Given the description of an element on the screen output the (x, y) to click on. 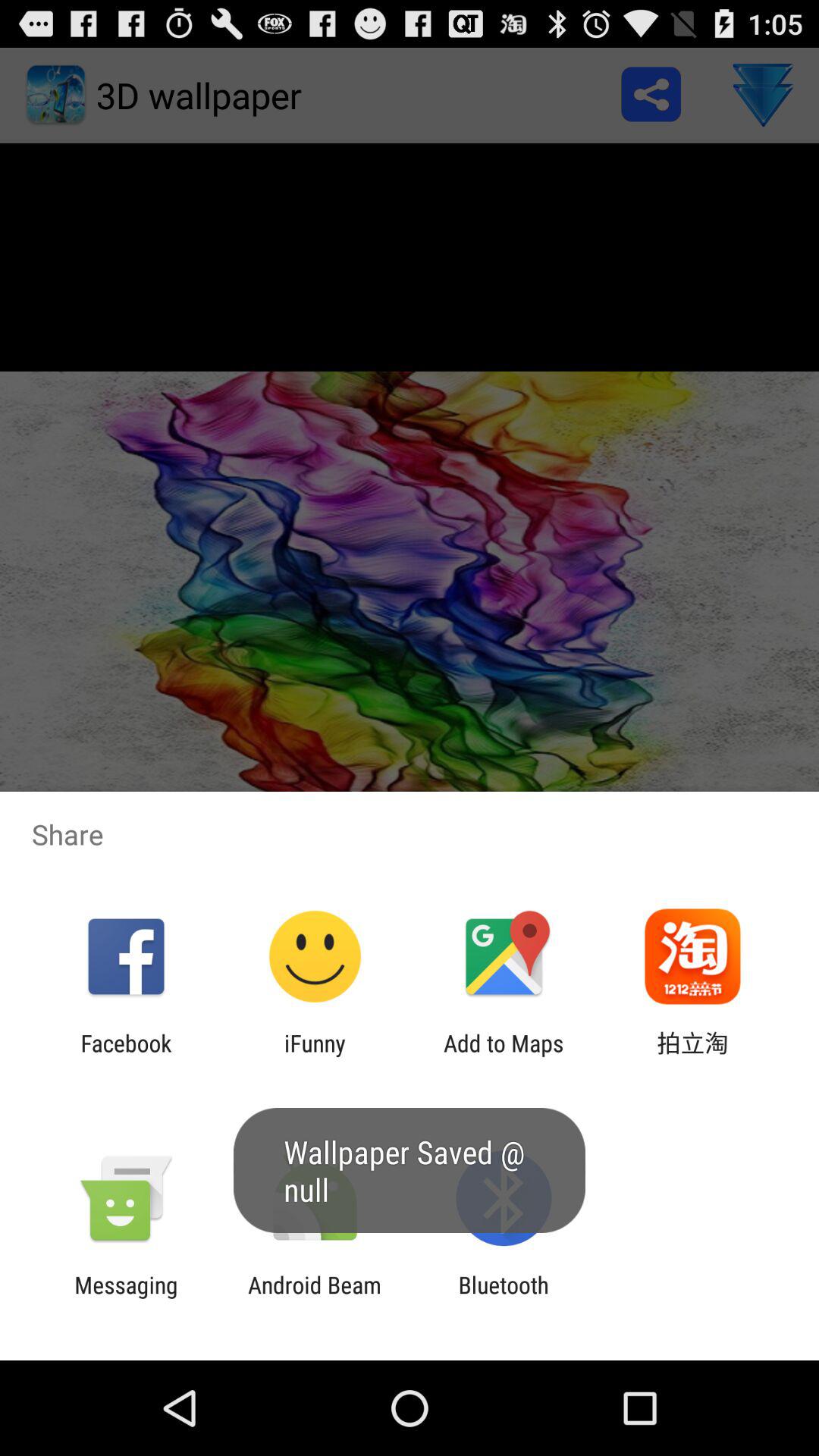
choose the app next to messaging (314, 1298)
